Given the description of an element on the screen output the (x, y) to click on. 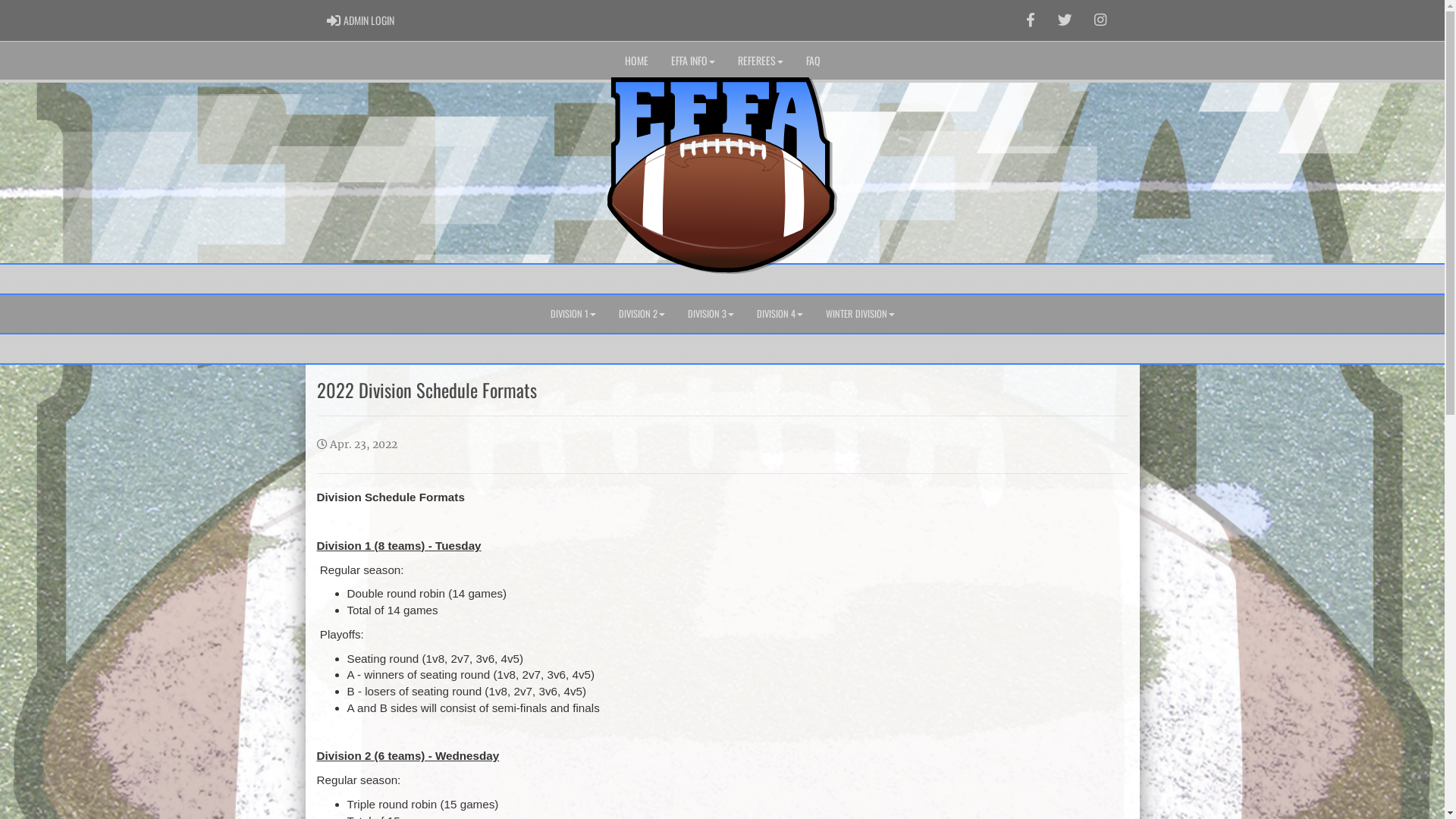
DIVISION 1 Element type: text (572, 313)
Facebook Element type: text (1030, 20)
follow us Element type: hover (1064, 19)
instagram Element type: hover (1100, 19)
HOME Element type: text (635, 60)
FAQ Element type: text (812, 60)
DIVISION 2 Element type: text (640, 313)
DIVISION 3 Element type: text (710, 313)
DIVISION 4 Element type: text (778, 313)
Login Page Element type: hover (333, 20)
Twitter Element type: text (1065, 20)
like us Element type: hover (1030, 19)
EFFA INFO Element type: text (692, 60)
LOGIN PAGE
 ADMIN LOGIN
ADMIN LOGIN Element type: text (360, 20)
REFEREES Element type: text (760, 60)
Instagram Element type: text (1100, 20)
WINTER DIVISION Element type: text (860, 313)
